Given the description of an element on the screen output the (x, y) to click on. 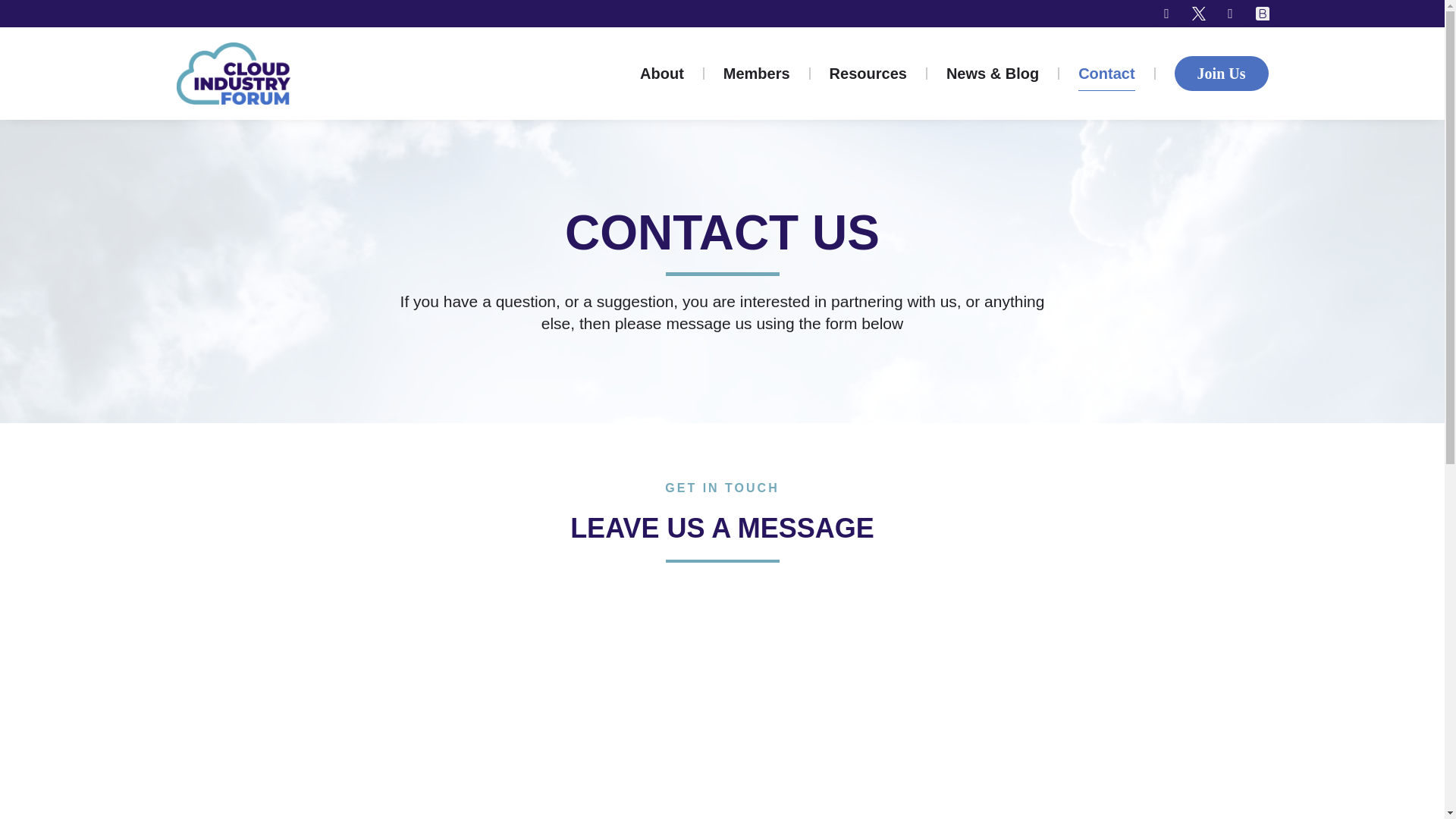
Resources (868, 73)
Join Us (1221, 73)
Members (756, 73)
About (662, 73)
Form 0 (721, 698)
Contact (1106, 73)
